Given the description of an element on the screen output the (x, y) to click on. 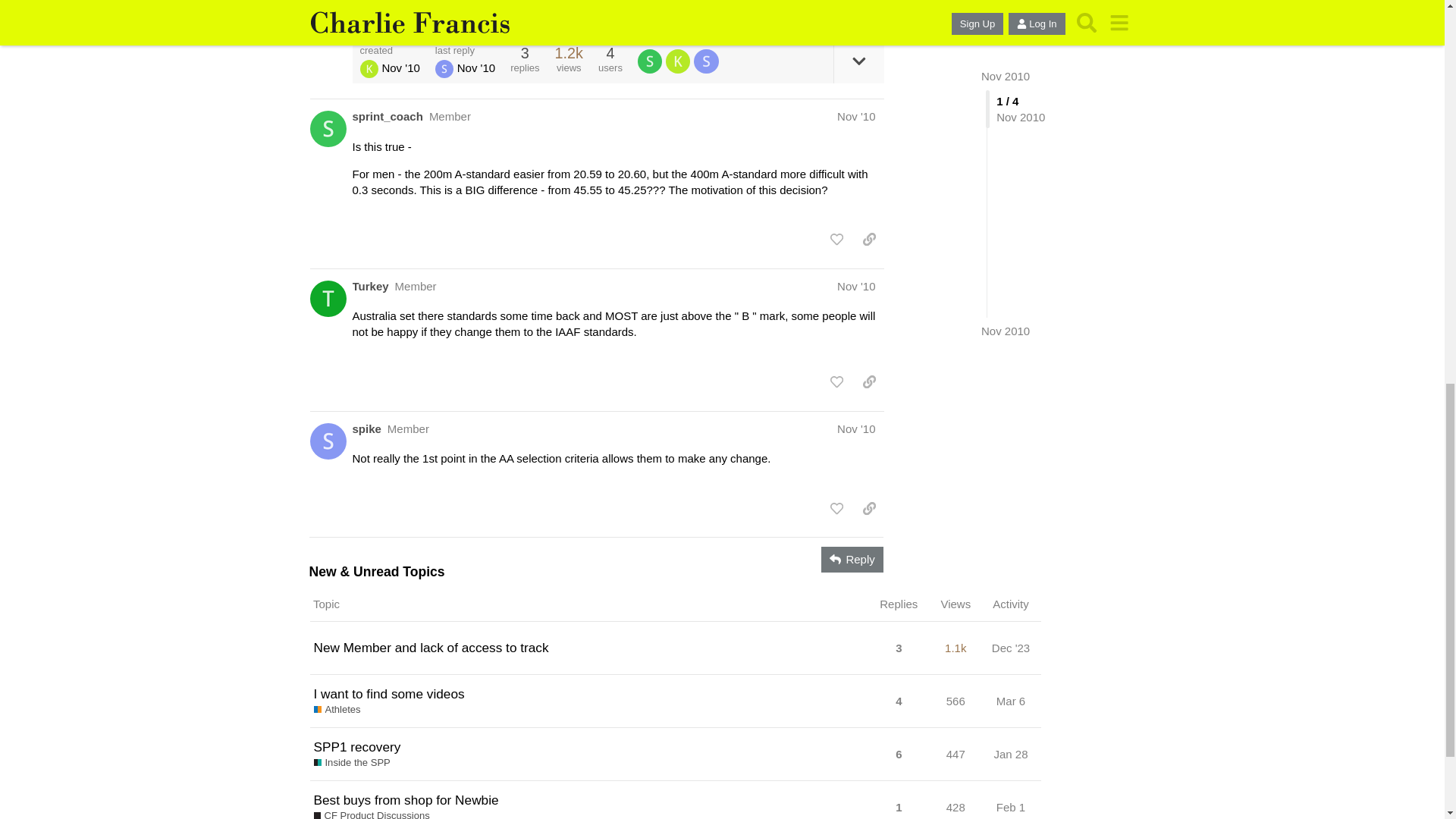
Nov '10 (856, 115)
1174 (568, 53)
last reply (465, 50)
spike (366, 428)
Turkey (370, 286)
share a link to this post (869, 11)
Nov 24, 2010 11:51 am (476, 67)
expand topic details (857, 61)
kitkat1 (368, 68)
Nov '10 (856, 428)
